Given the description of an element on the screen output the (x, y) to click on. 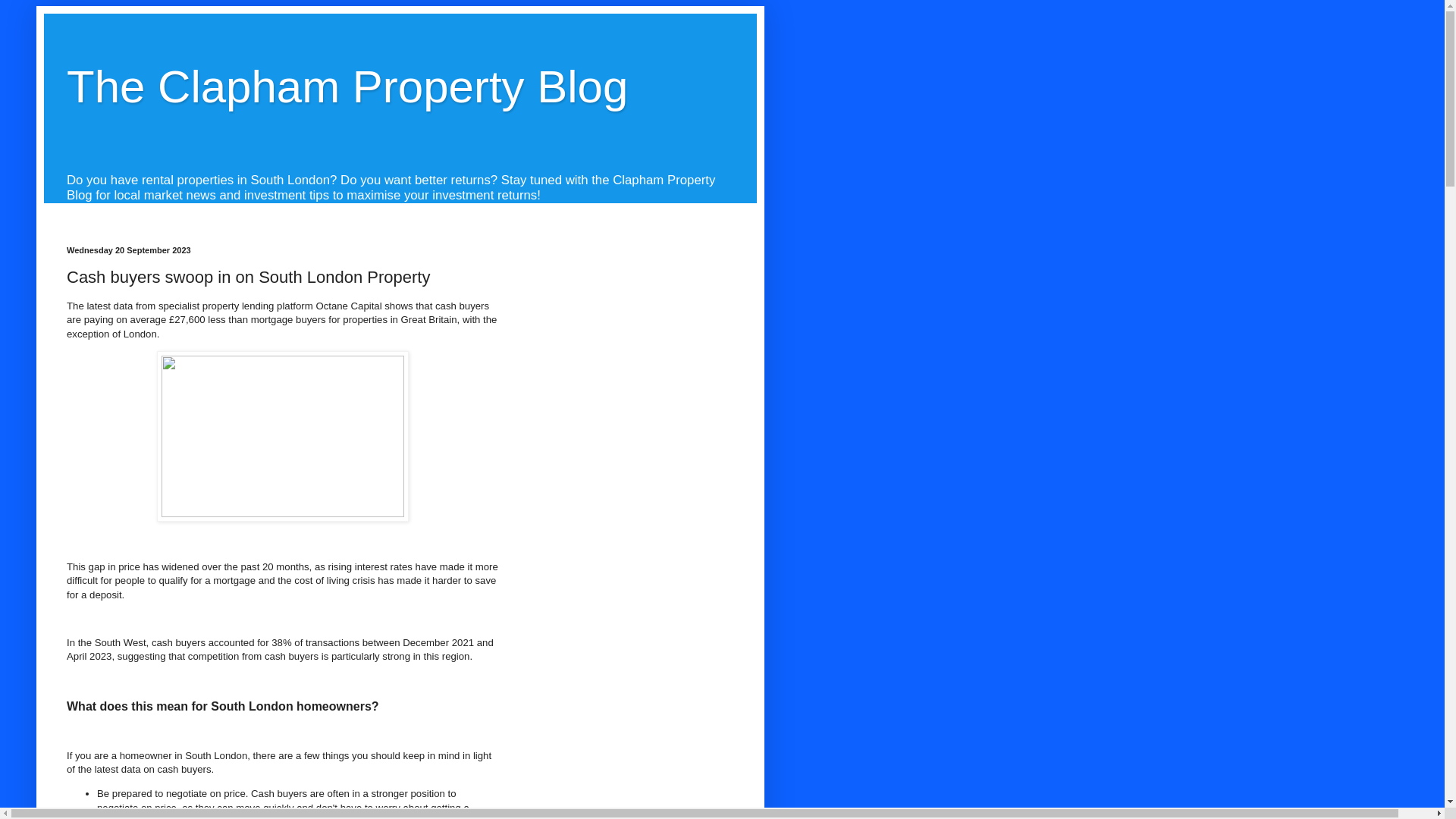
The Clapham Property Blog (346, 86)
